Given the description of an element on the screen output the (x, y) to click on. 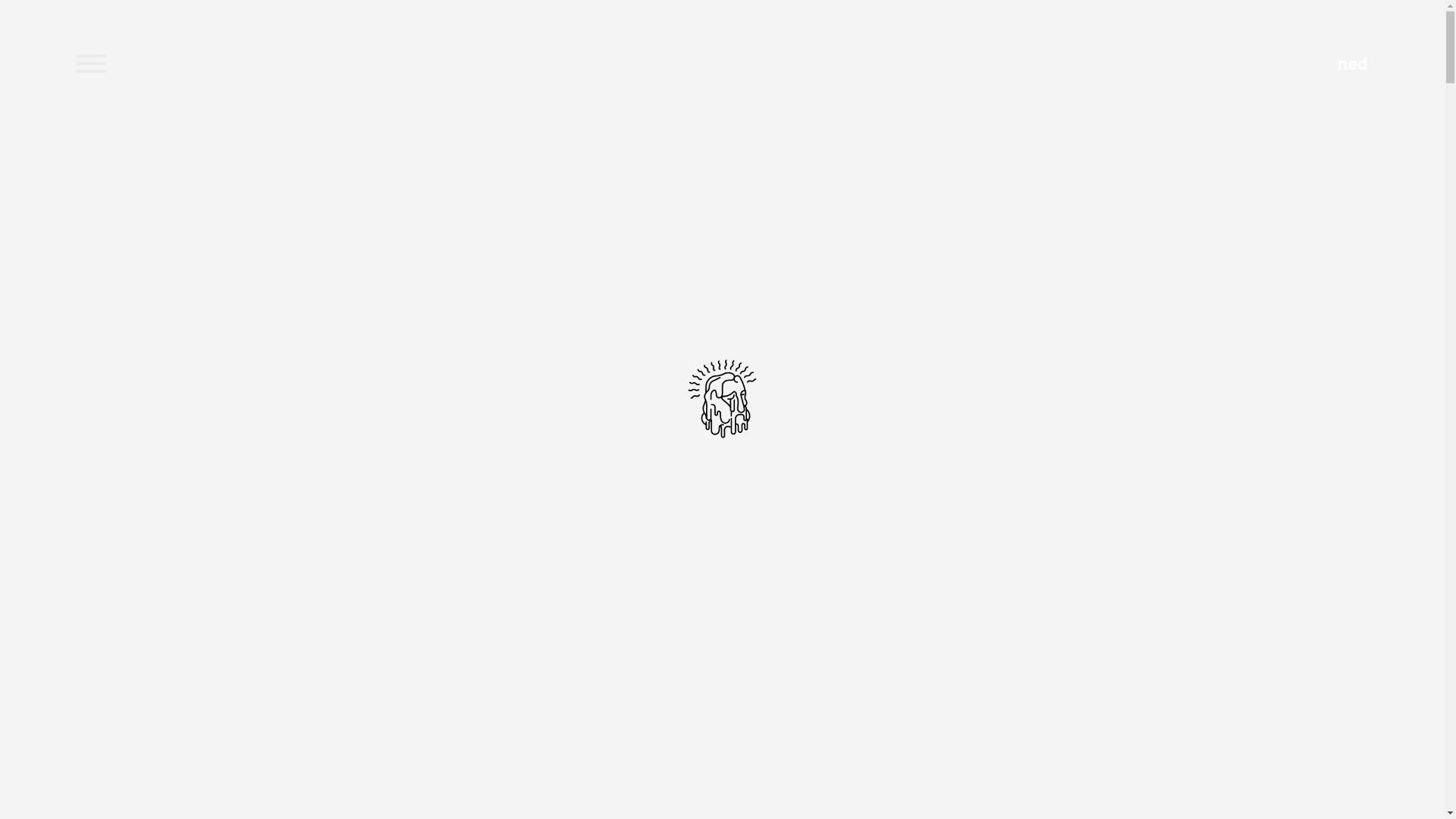
ned Element type: text (1353, 65)
